Given the description of an element on the screen output the (x, y) to click on. 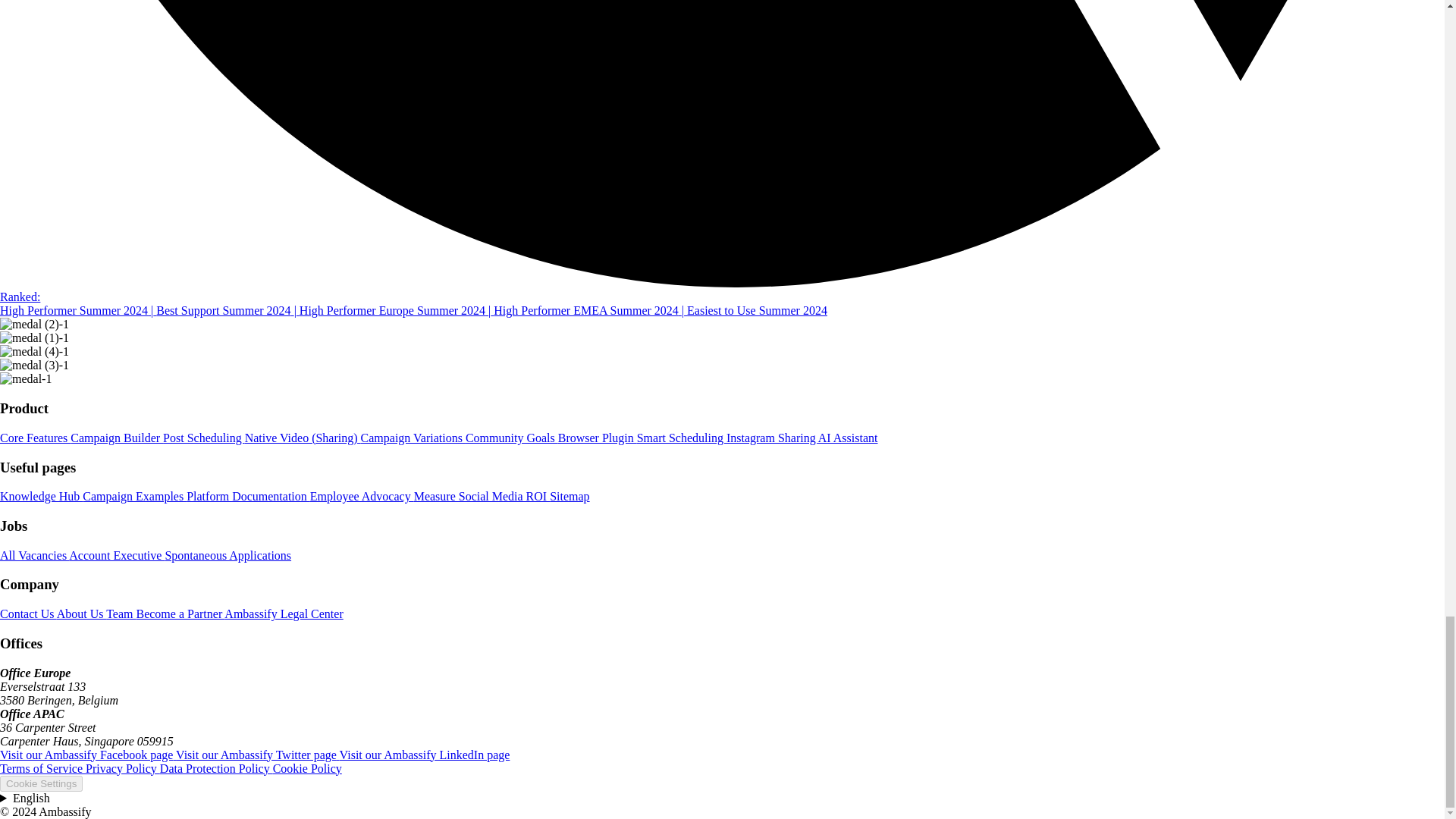
Visit our Ambassify LinkedIn page (425, 754)
Visit our Ambassify Twitter page (257, 754)
Visit our Ambassify Facebook page (88, 754)
